Given the description of an element on the screen output the (x, y) to click on. 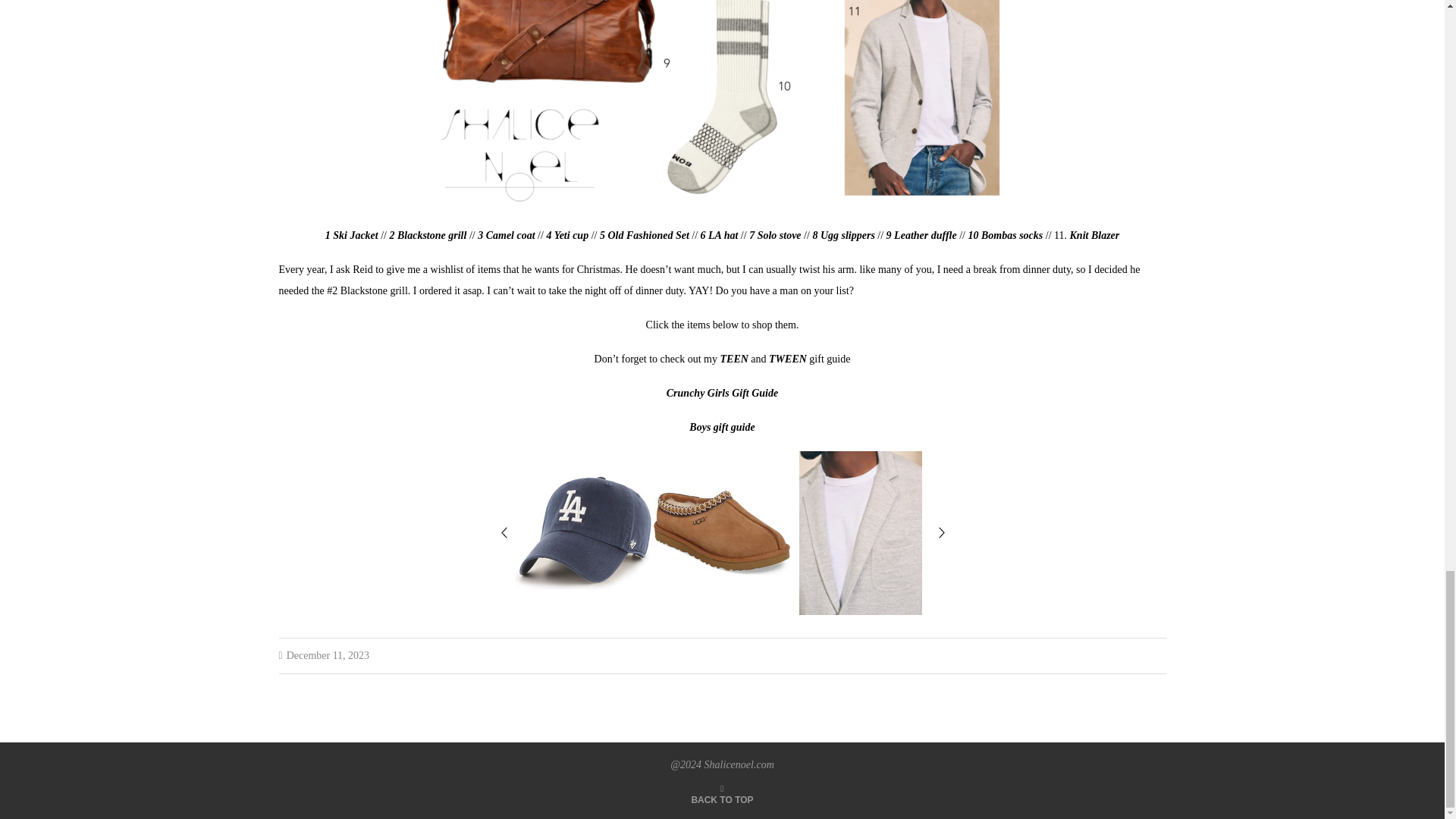
1 Ski Jacket (351, 235)
TWEEN (788, 358)
Crunchy Girls Gift Guide (721, 392)
10 Bombas socks (1006, 235)
3 Camel coat (505, 235)
Boys gift guide (721, 427)
TEEN (735, 358)
Knit Blazer (1094, 235)
6 LA hat (720, 235)
8 Ugg slippers (843, 235)
5 Old Fashioned Set (643, 235)
9 Leather duffle (921, 235)
7 Solo stove (774, 235)
2 Blackstone grill (428, 235)
4 Yeti cup (567, 235)
